Given the description of an element on the screen output the (x, y) to click on. 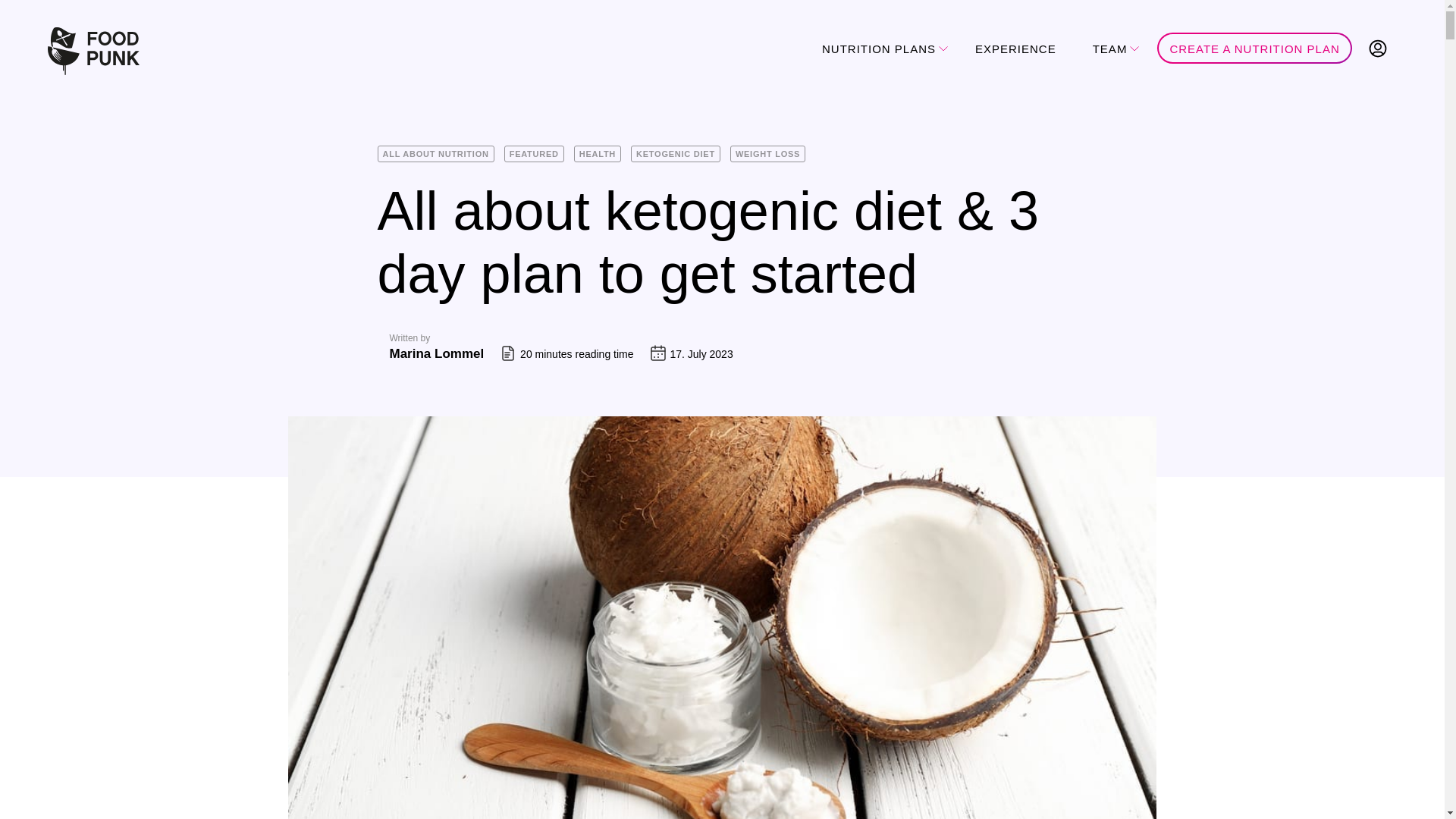
HEALTH (597, 153)
WEIGHT LOSS (767, 153)
FEATURED (533, 153)
LOGIN (1377, 49)
ALL ABOUT NUTRITION (436, 153)
EXPERIENCE (1015, 49)
CREATE A NUTRITION PLAN (1254, 47)
KETOGENIC DIET (675, 153)
